Given the description of an element on the screen output the (x, y) to click on. 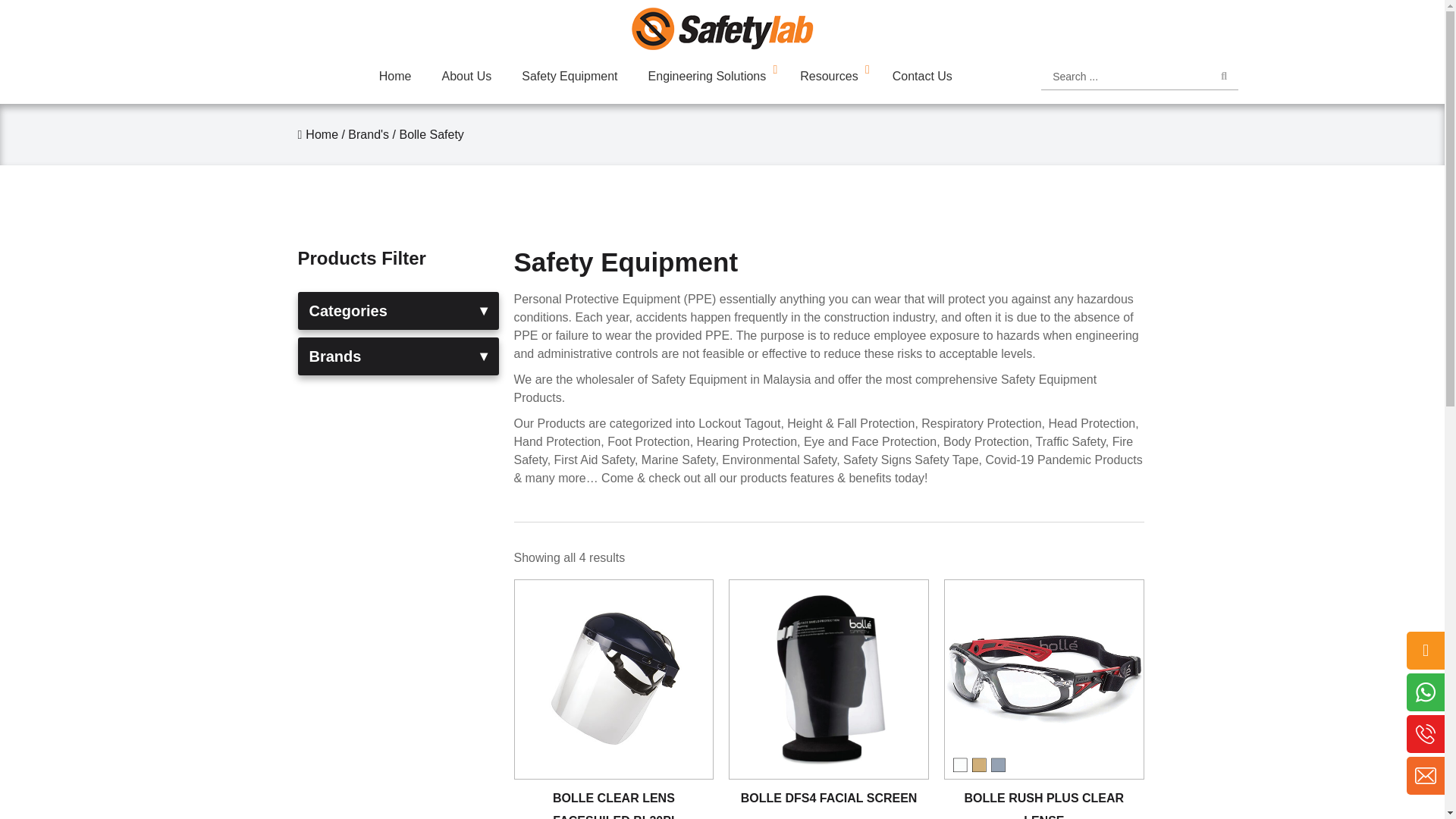
Contact Us (922, 76)
Safety Equipment (568, 76)
About Us (466, 76)
Home (395, 76)
Engineering Solutions (709, 76)
Home (317, 133)
Categories (397, 310)
